Given the description of an element on the screen output the (x, y) to click on. 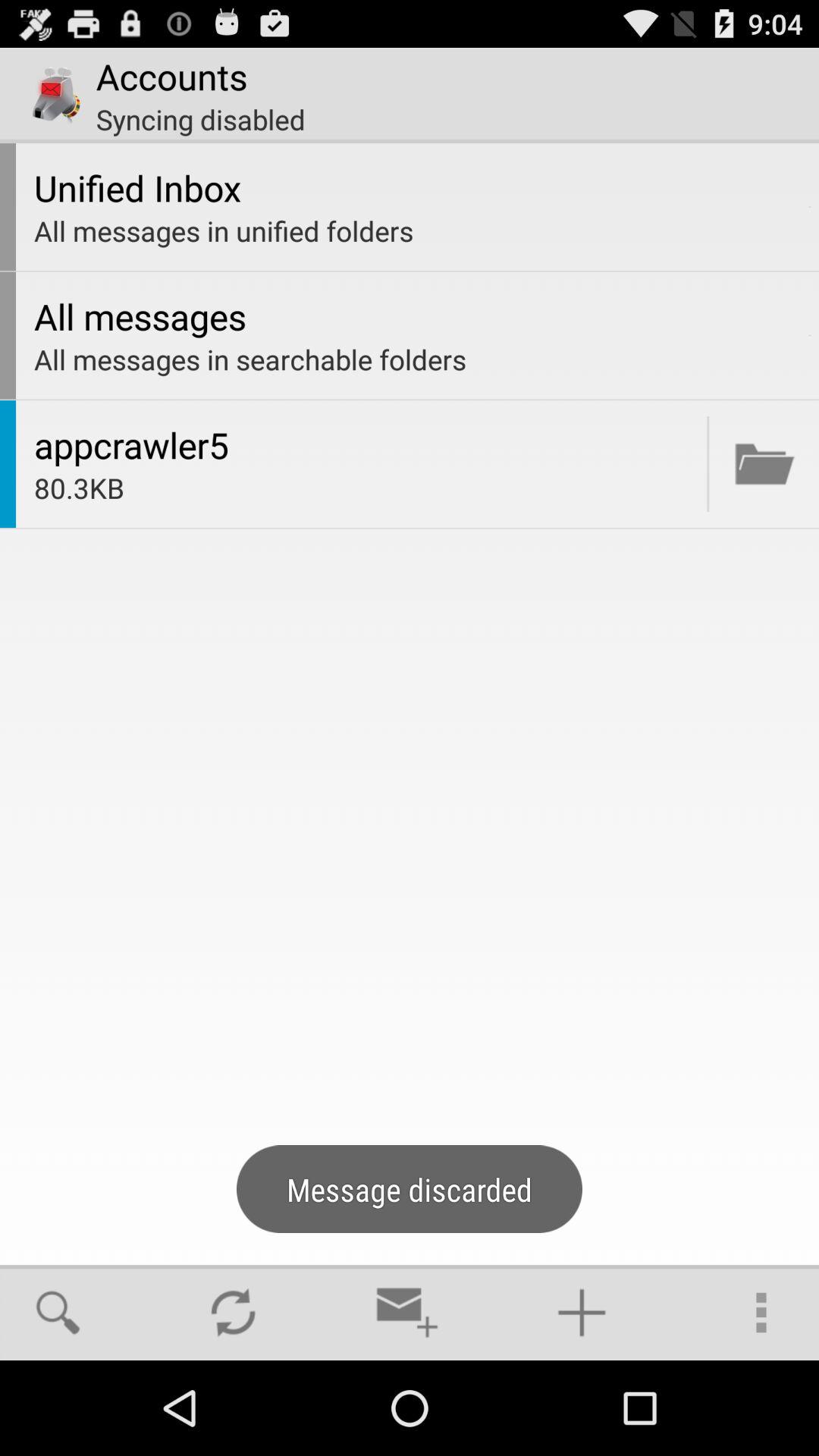
file option (764, 463)
